Given the description of an element on the screen output the (x, y) to click on. 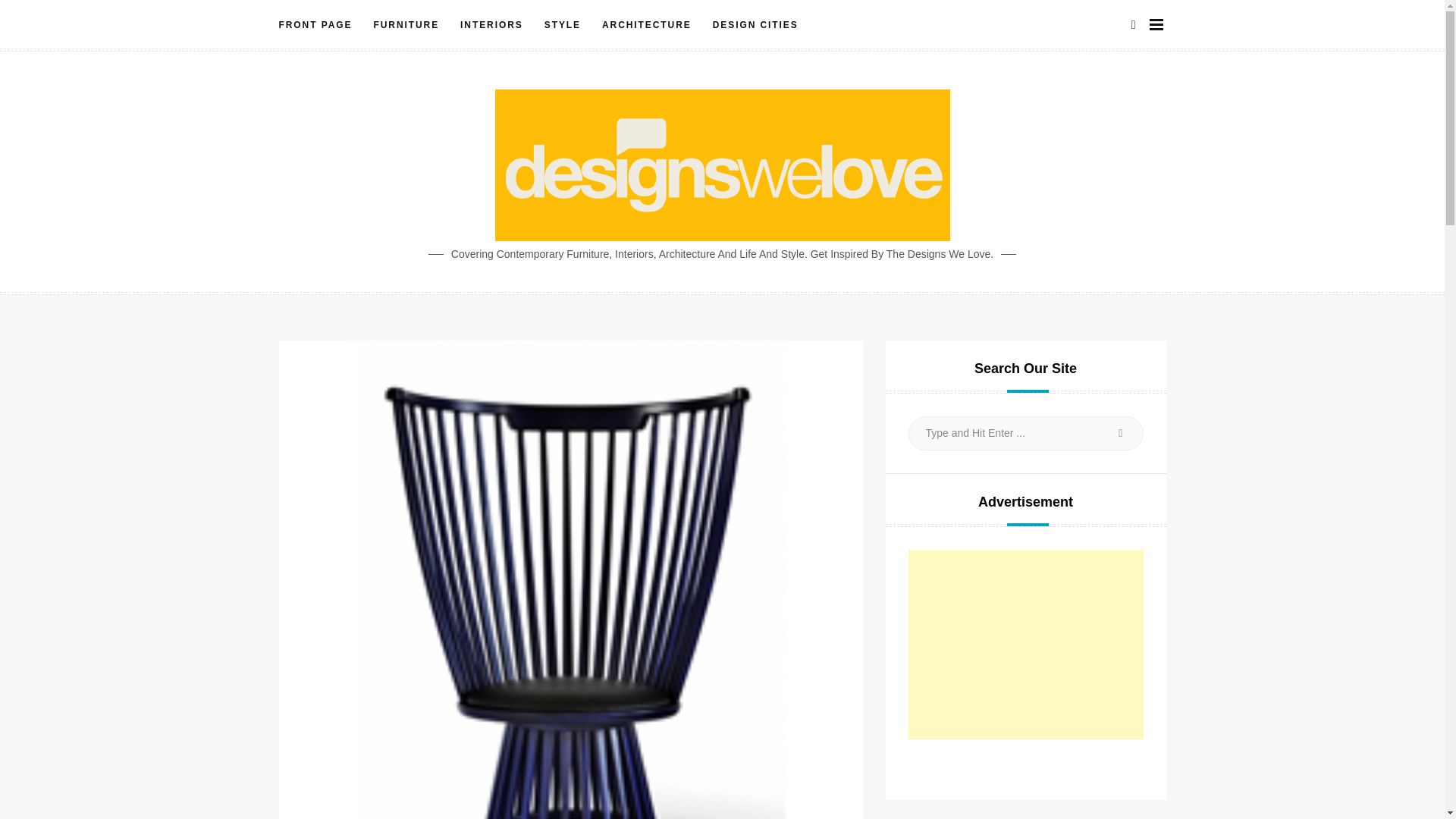
DESIGN CITIES (755, 25)
FURNITURE (405, 25)
FRONT PAGE (320, 25)
STYLE (562, 25)
Advertisement (1025, 644)
ARCHITECTURE (646, 25)
INTERIORS (491, 25)
